Given the description of an element on the screen output the (x, y) to click on. 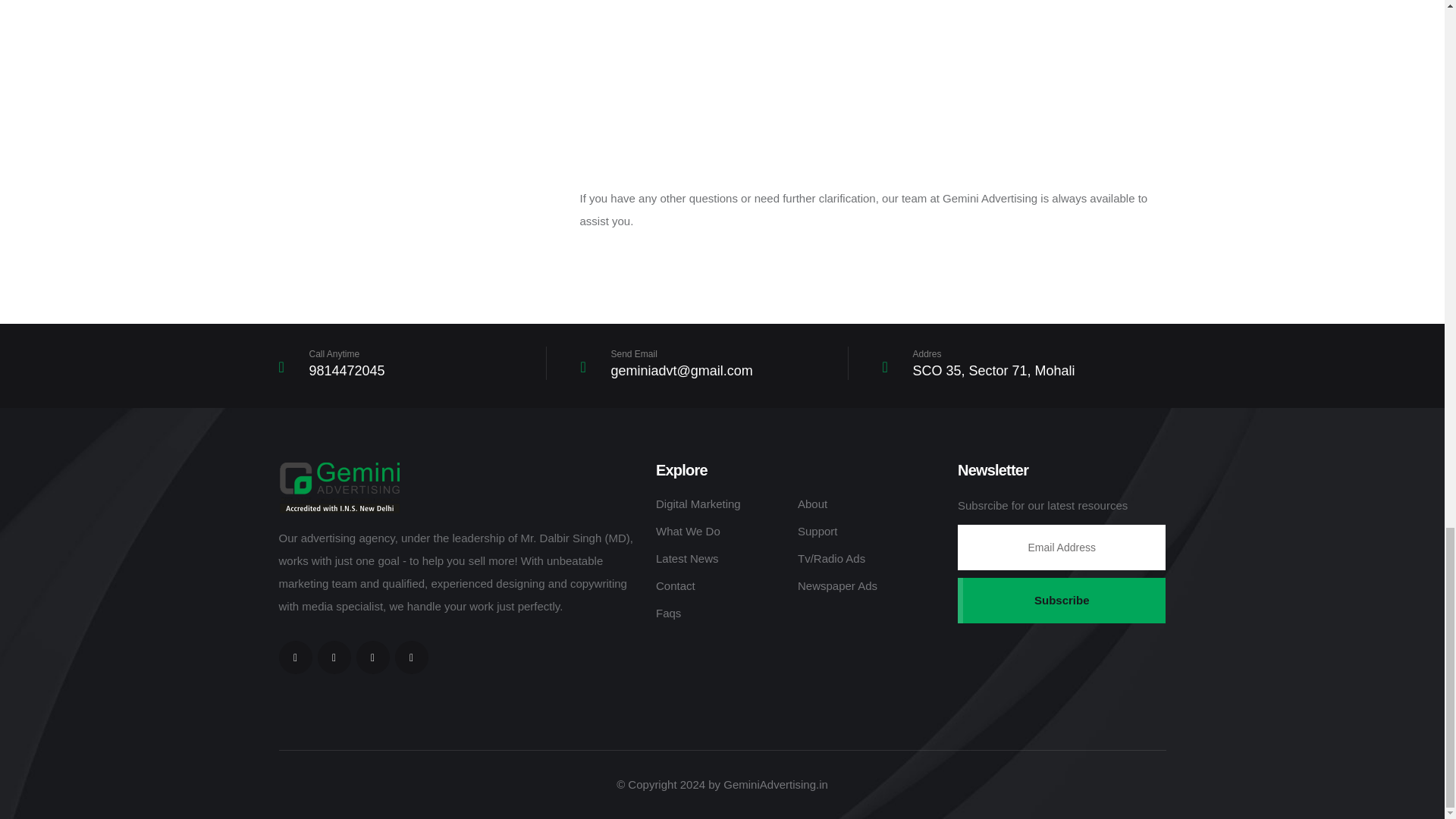
Facebook (333, 657)
Pinterest (373, 657)
Instagram (411, 657)
